Given the description of an element on the screen output the (x, y) to click on. 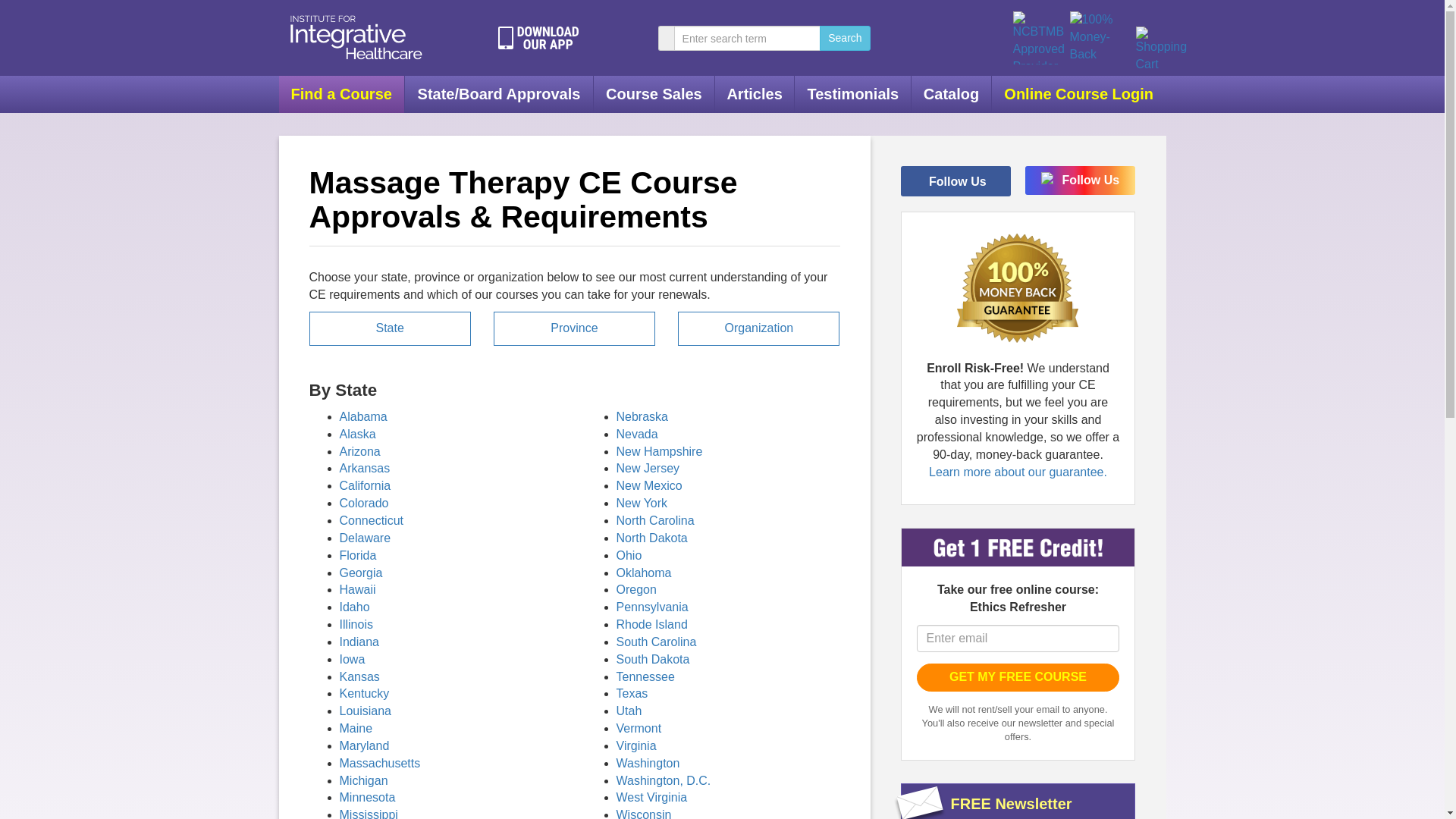
Download our app (537, 37)
Kentucky (364, 693)
Connecticut (371, 520)
Colorado (363, 502)
Course Sales (654, 94)
Illinois (355, 624)
Home Study Massage Continuing Education Course CEU Specials (654, 94)
Online Course Login (1078, 94)
Catalog (951, 94)
